Given the description of an element on the screen output the (x, y) to click on. 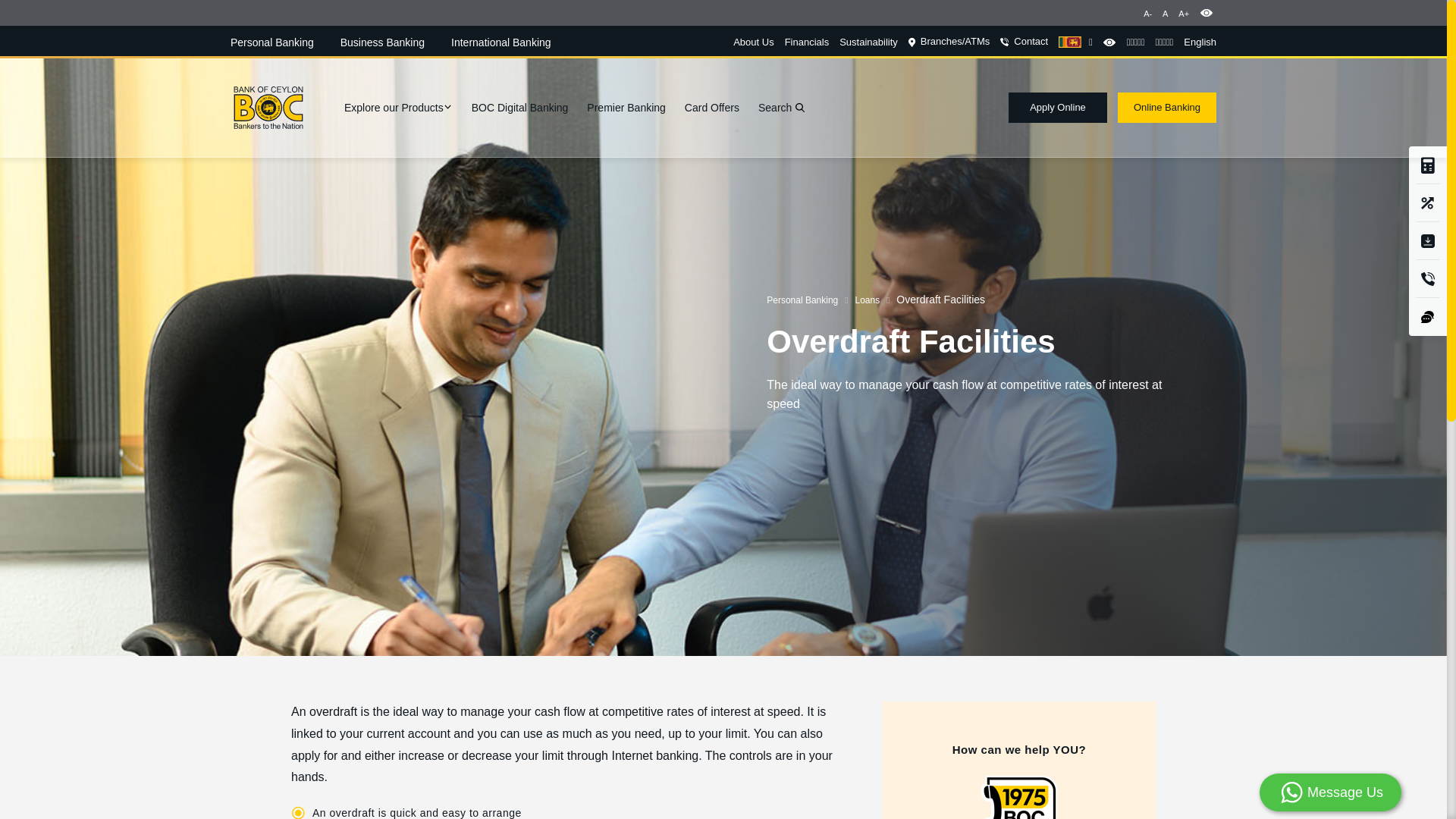
Financials (806, 42)
Sustainability (869, 42)
International Banking (501, 42)
Explore our Products (397, 107)
Business Banking (382, 42)
English (1199, 42)
Contact (1024, 41)
About Us (753, 42)
Personal Banking (272, 42)
